Given the description of an element on the screen output the (x, y) to click on. 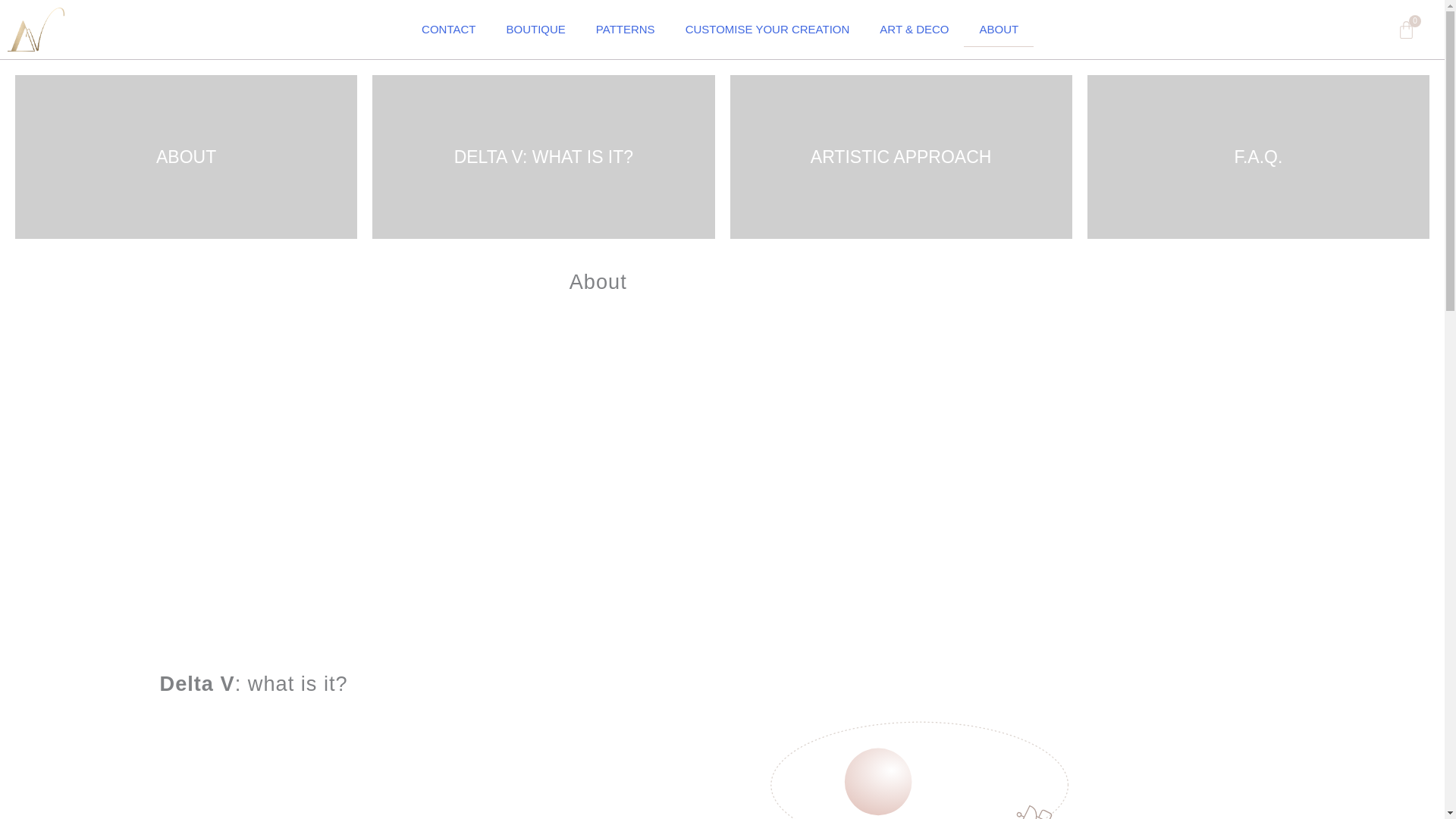
BOUTIQUE (536, 29)
DELTA V: WHAT IS IT? (543, 157)
CUSTOMISE YOUR CREATION (766, 29)
PATTERNS (624, 29)
CONTACT (448, 29)
ARTISTIC APPROACH (900, 157)
F.A.Q. (1258, 157)
ABOUT (1406, 29)
ABOUT (185, 157)
